Given the description of an element on the screen output the (x, y) to click on. 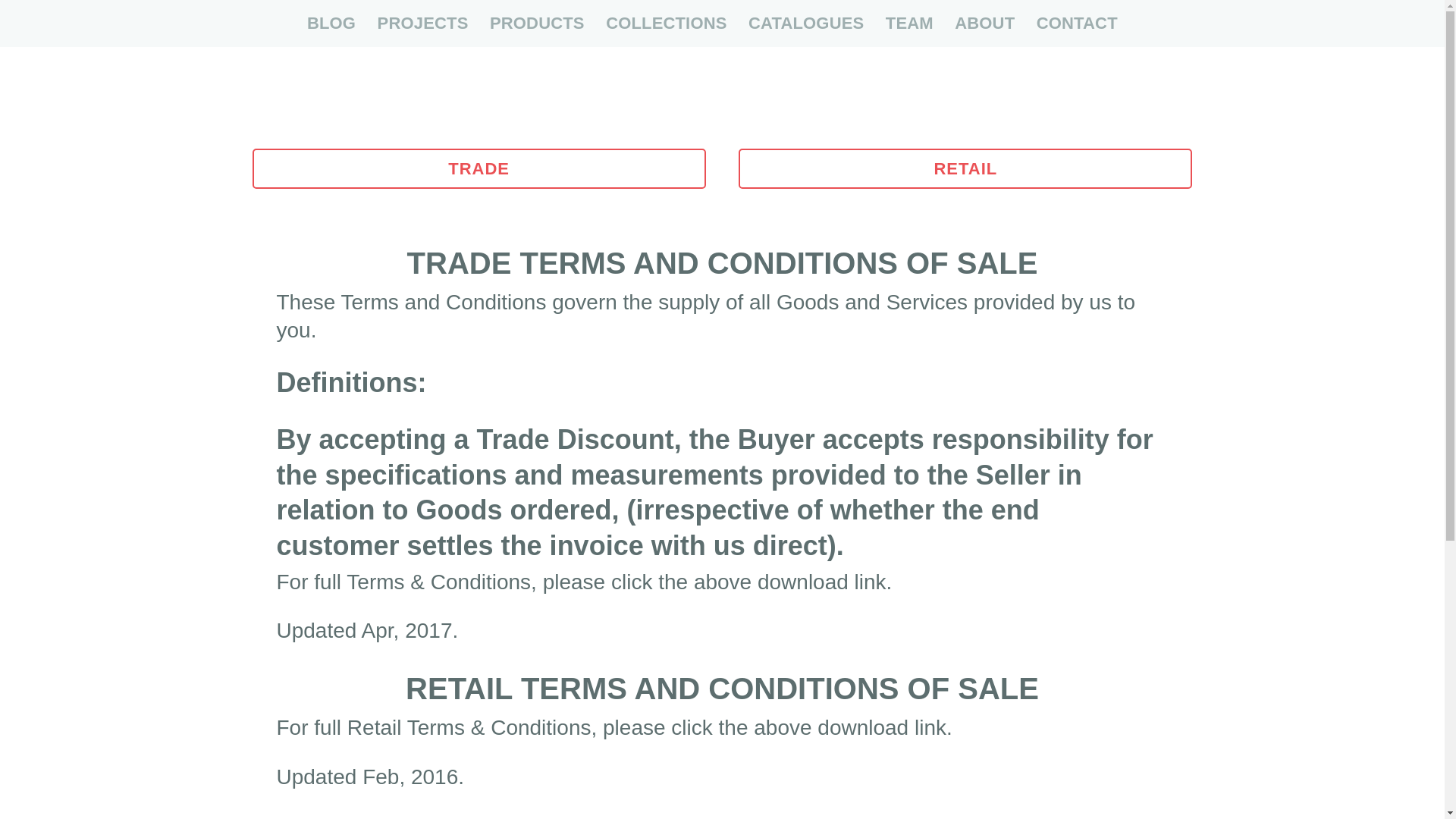
PRODUCTS (537, 23)
TEAM (909, 23)
BLOG (331, 23)
ABOUT (983, 23)
CONTACT (1076, 23)
PROJECTS (422, 23)
CATALOGUES (805, 23)
COLLECTIONS (665, 23)
TRADE (477, 168)
Go (313, 231)
HOME (272, 23)
RETAIL (965, 168)
